Given the description of an element on the screen output the (x, y) to click on. 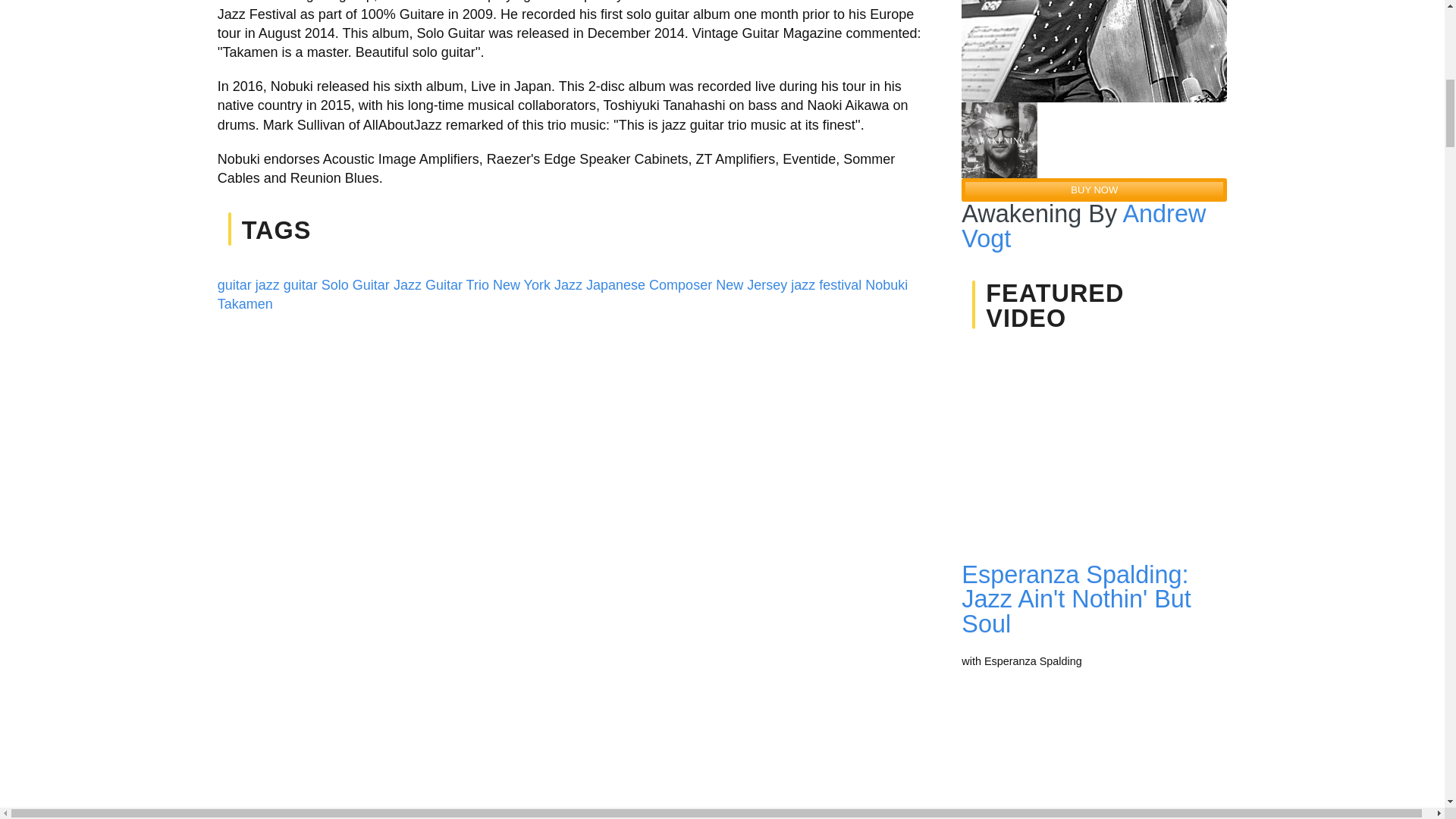
New Jersey (751, 284)
jazz festival (825, 284)
Nobuki Takamen (562, 294)
guitar (233, 284)
All About Jazz Tags Center (276, 230)
TAGS (276, 230)
Jazz Guitar Trio (441, 284)
Japanese (615, 284)
jazz guitar (286, 284)
New York Jazz (537, 284)
